Given the description of an element on the screen output the (x, y) to click on. 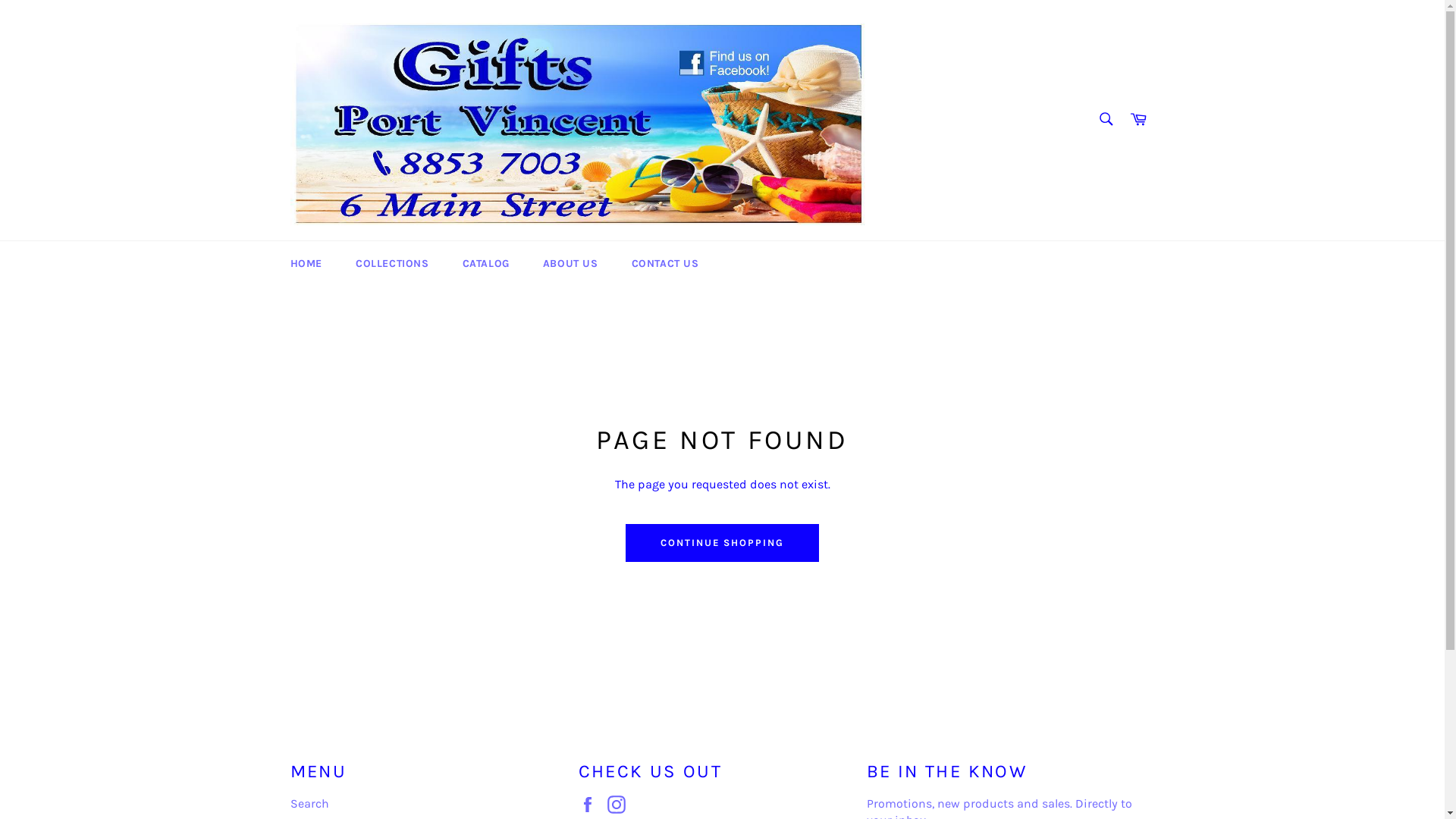
CONTINUE SHOPPING Element type: text (722, 542)
Cart Element type: text (1138, 120)
COLLECTIONS Element type: text (392, 263)
Search Element type: text (1105, 118)
ABOUT US Element type: text (570, 263)
CATALOG Element type: text (485, 263)
Instagram Element type: text (619, 804)
Search Element type: text (308, 803)
HOME Element type: text (305, 263)
Facebook Element type: text (590, 804)
CONTACT US Element type: text (665, 263)
